Given the description of an element on the screen output the (x, y) to click on. 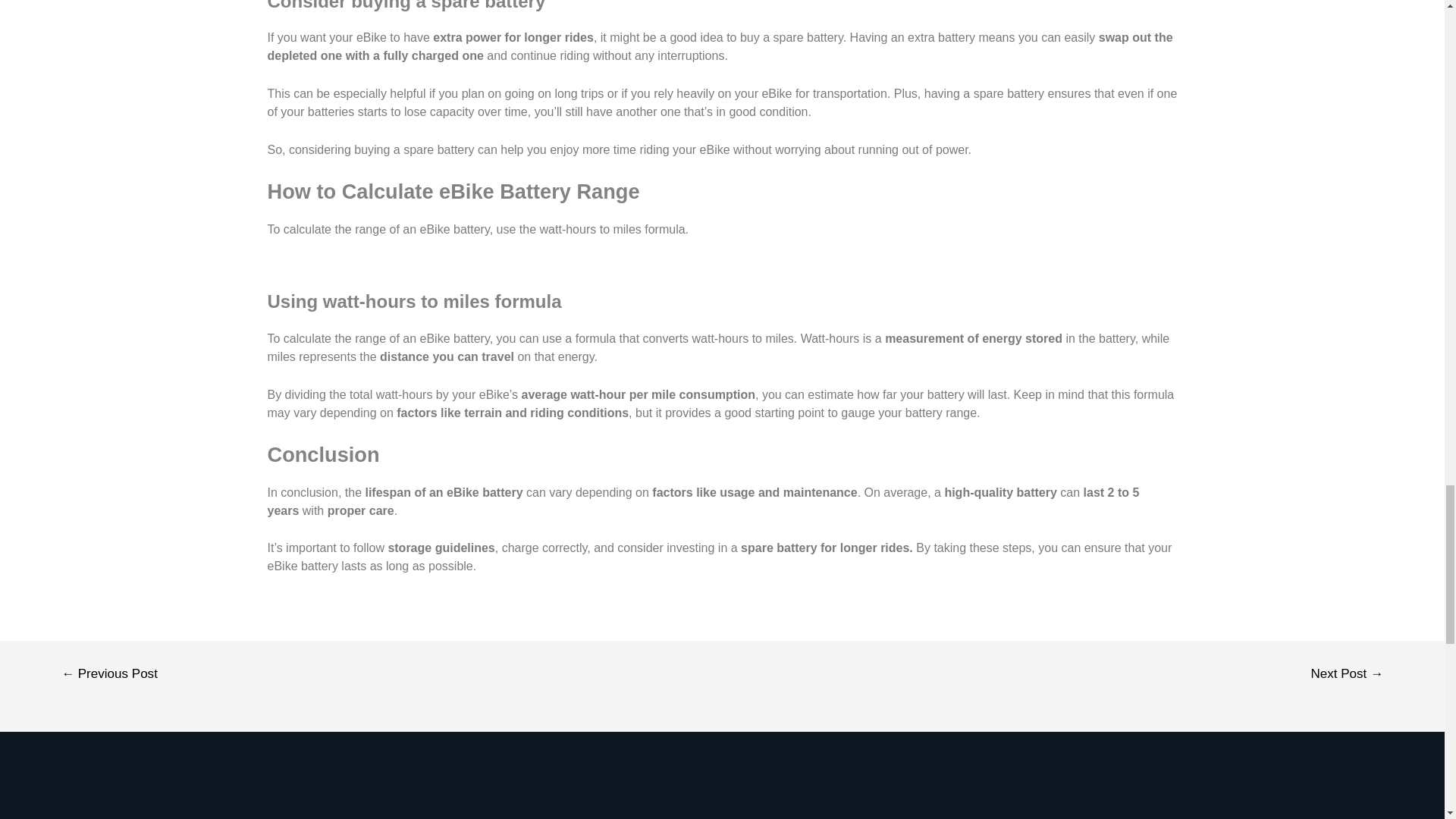
Ebike Battery calculator (721, 273)
